Given the description of an element on the screen output the (x, y) to click on. 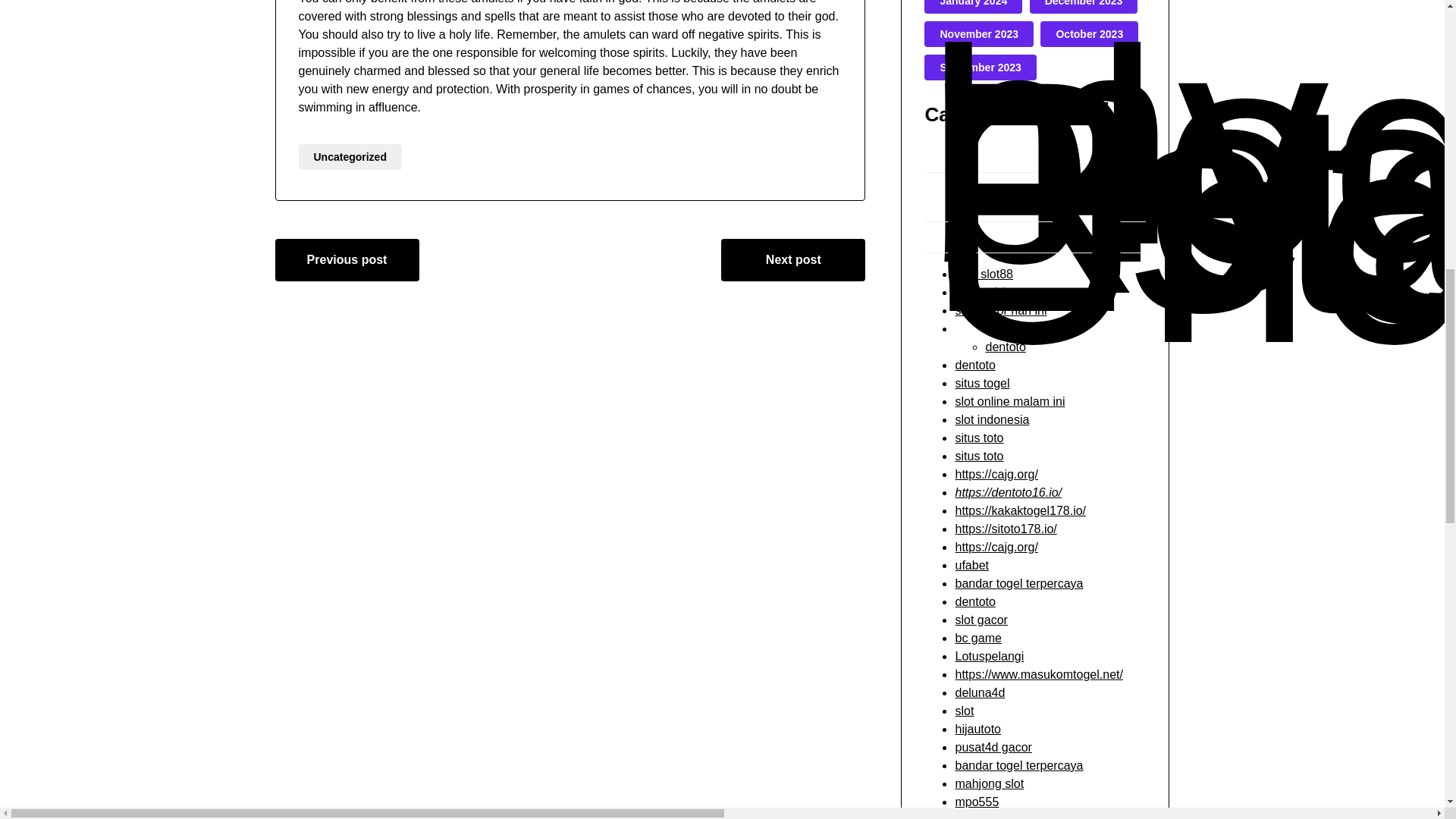
Previous post (347, 260)
dentoto (974, 364)
deluna4d (979, 291)
Uncategorized (349, 156)
asia slot88 (984, 273)
November 2023 (978, 33)
October 2023 (1088, 33)
January 2024 (973, 3)
September 2023 (979, 67)
December 2023 (1083, 3)
dentoto (1005, 346)
Next post (792, 260)
